Given the description of an element on the screen output the (x, y) to click on. 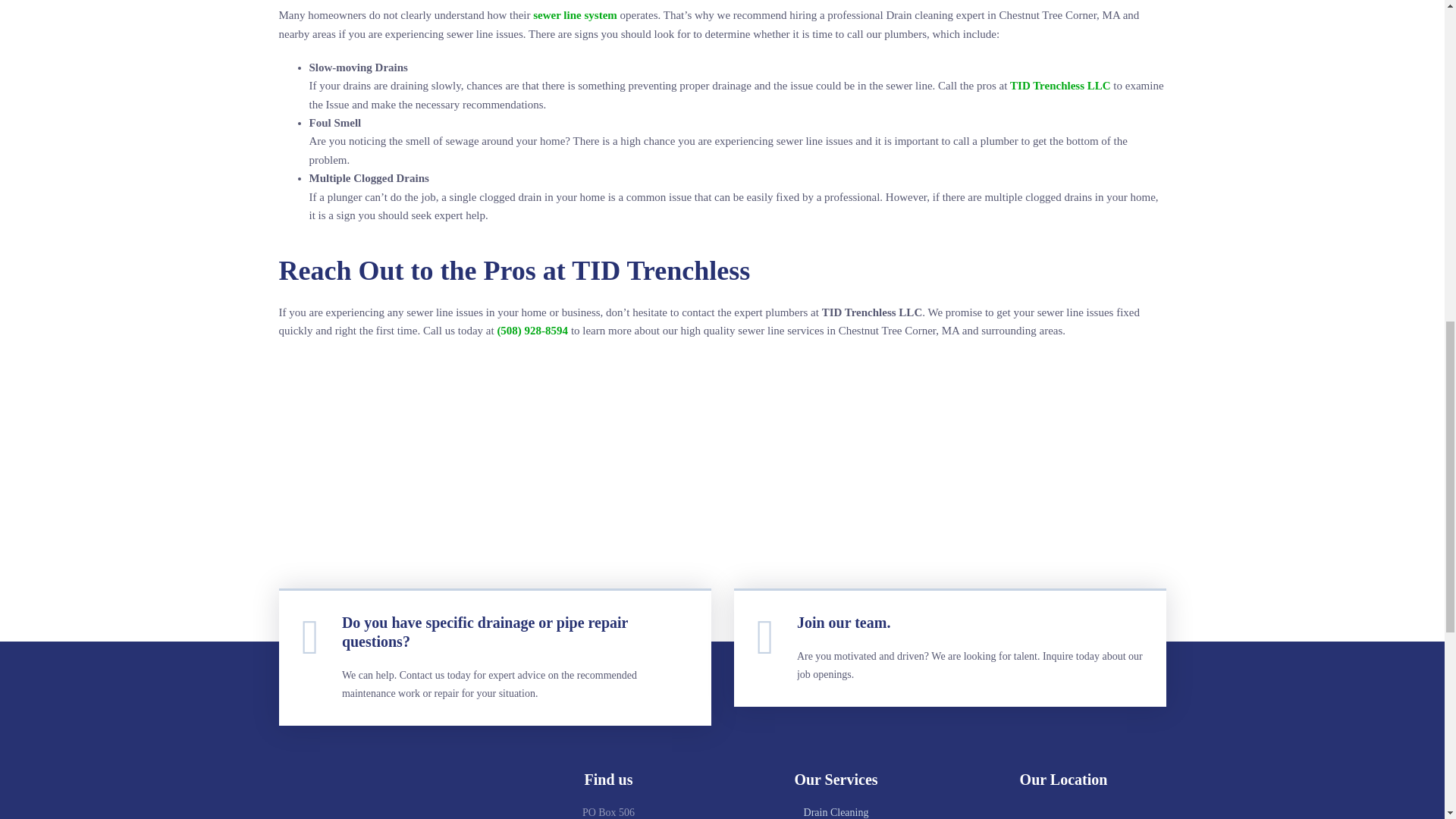
Do you have specific drainage or pipe repair questions? (484, 632)
TID Trenchless LLC (1060, 85)
sewer line system (574, 15)
Join our team. (843, 622)
Drain Cleaning (836, 812)
